Given the description of an element on the screen output the (x, y) to click on. 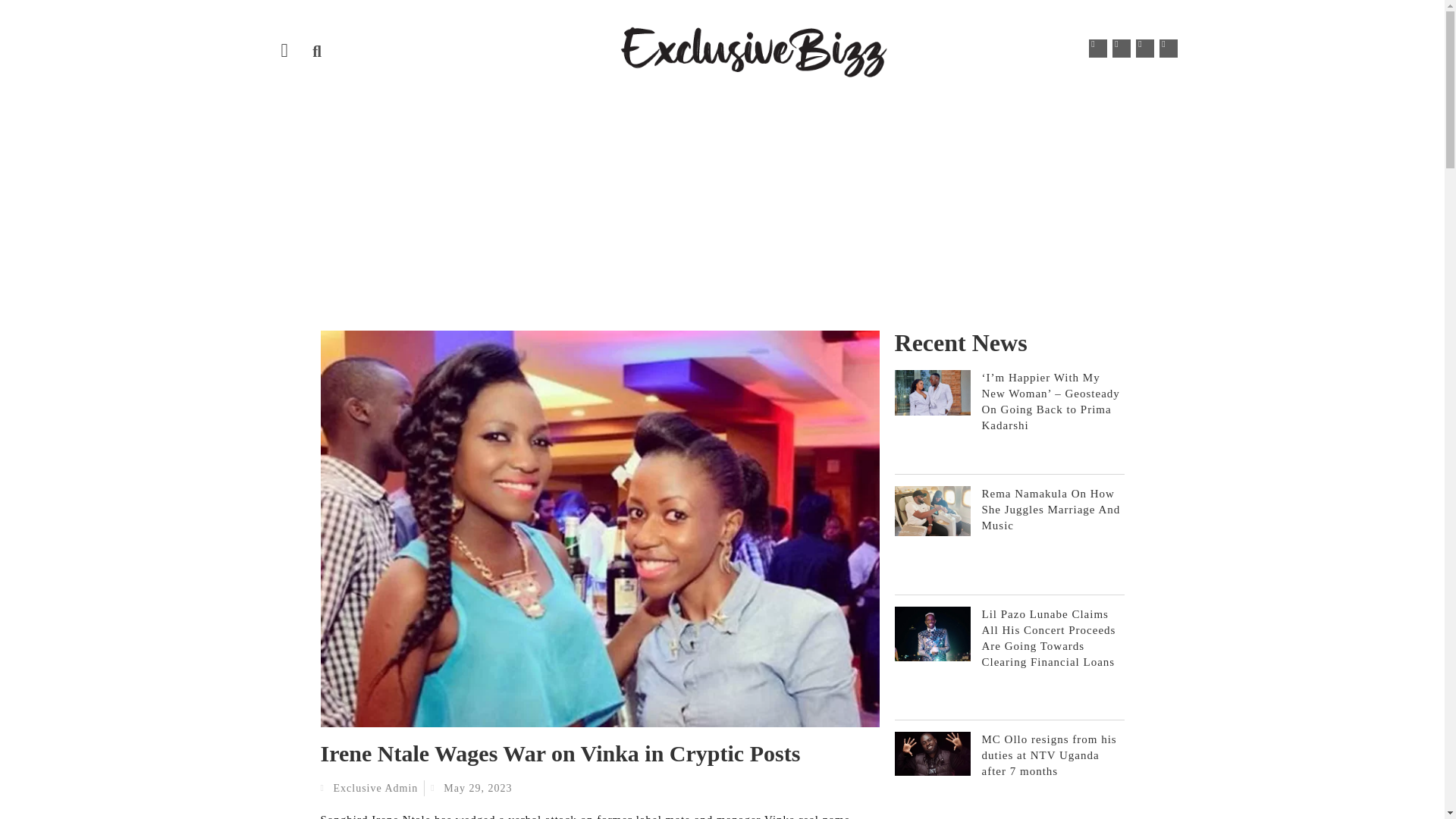
Exclusive Admin (368, 788)
May 29, 2023 (471, 788)
